Given the description of an element on the screen output the (x, y) to click on. 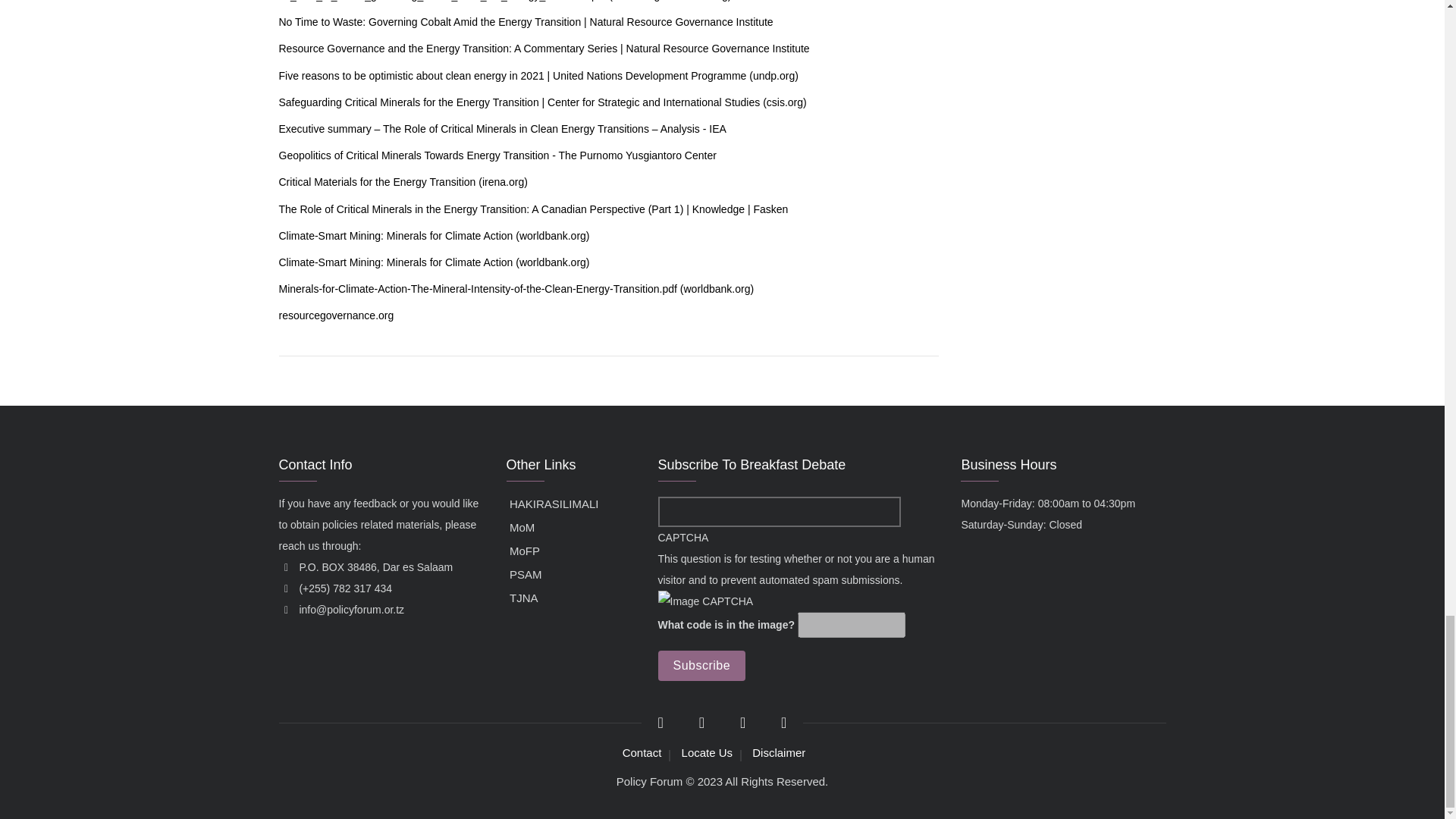
Subscribe (701, 665)
Image CAPTCHA (706, 600)
